Given the description of an element on the screen output the (x, y) to click on. 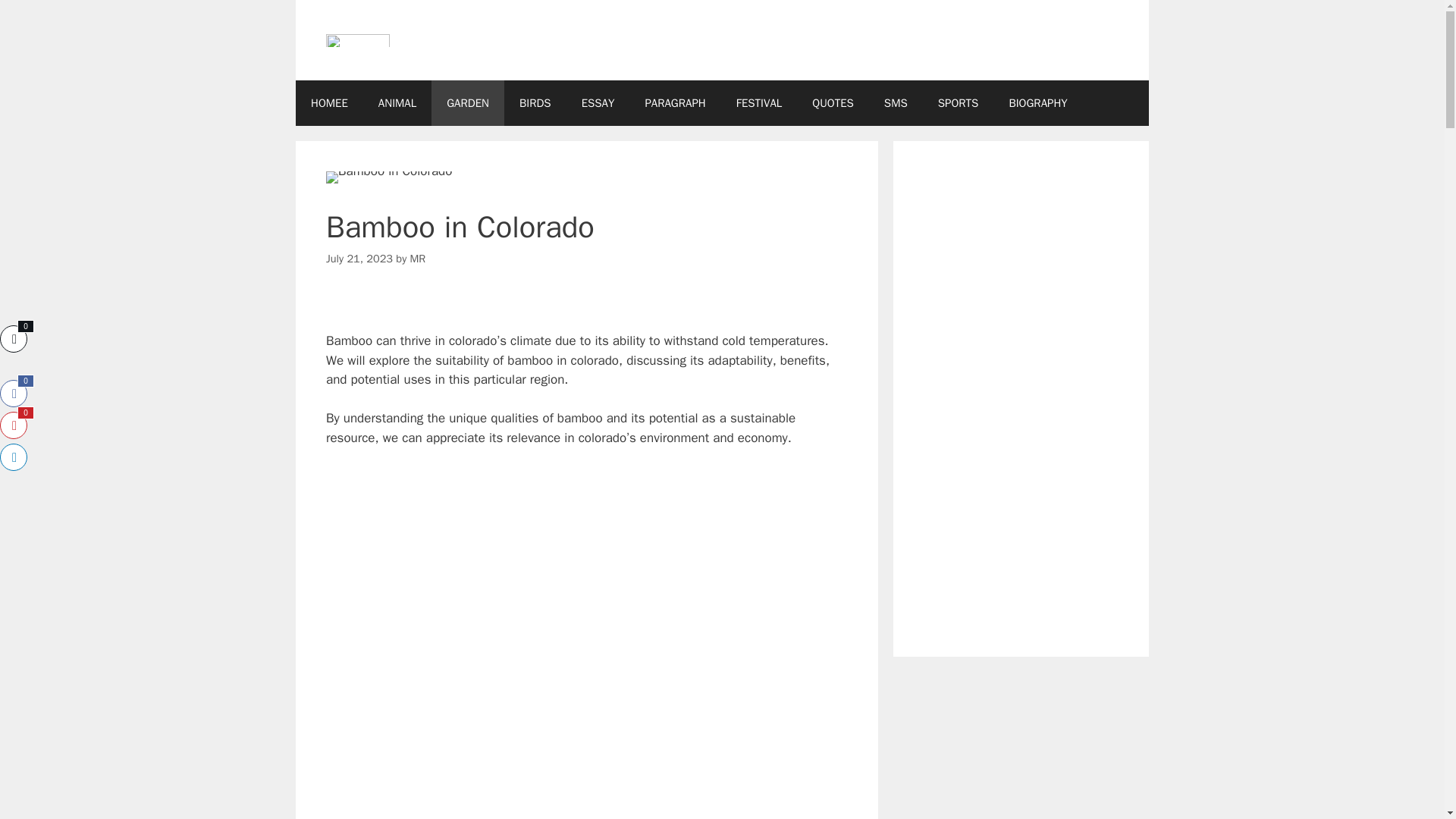
BIOGRAPHY (1036, 103)
QUOTES (832, 103)
SMS (896, 103)
PARAGRAPH (674, 103)
BIRDS (534, 103)
ESSAY (598, 103)
GARDEN (466, 103)
ANIMAL (396, 103)
View all posts by MR (418, 258)
MR (418, 258)
